Given the description of an element on the screen output the (x, y) to click on. 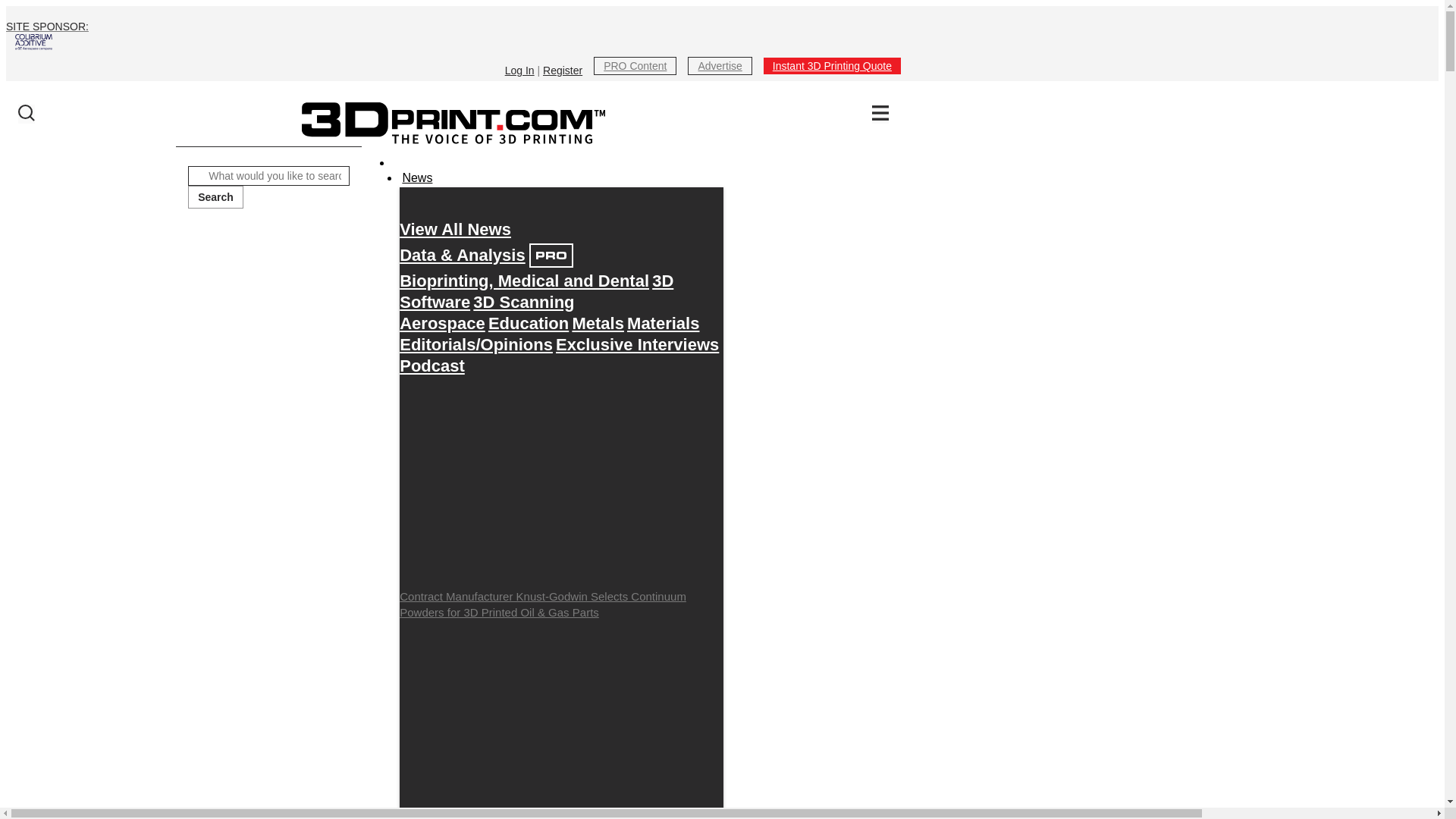
3D Software (535, 291)
PRO Content (635, 65)
Metals (597, 323)
Log In (519, 70)
Exclusive Interviews (637, 344)
Search (215, 196)
Education (528, 323)
Instant 3D Printing Quote (831, 65)
Bioprinting, Medical and Dental (523, 280)
News (415, 178)
